Given the description of an element on the screen output the (x, y) to click on. 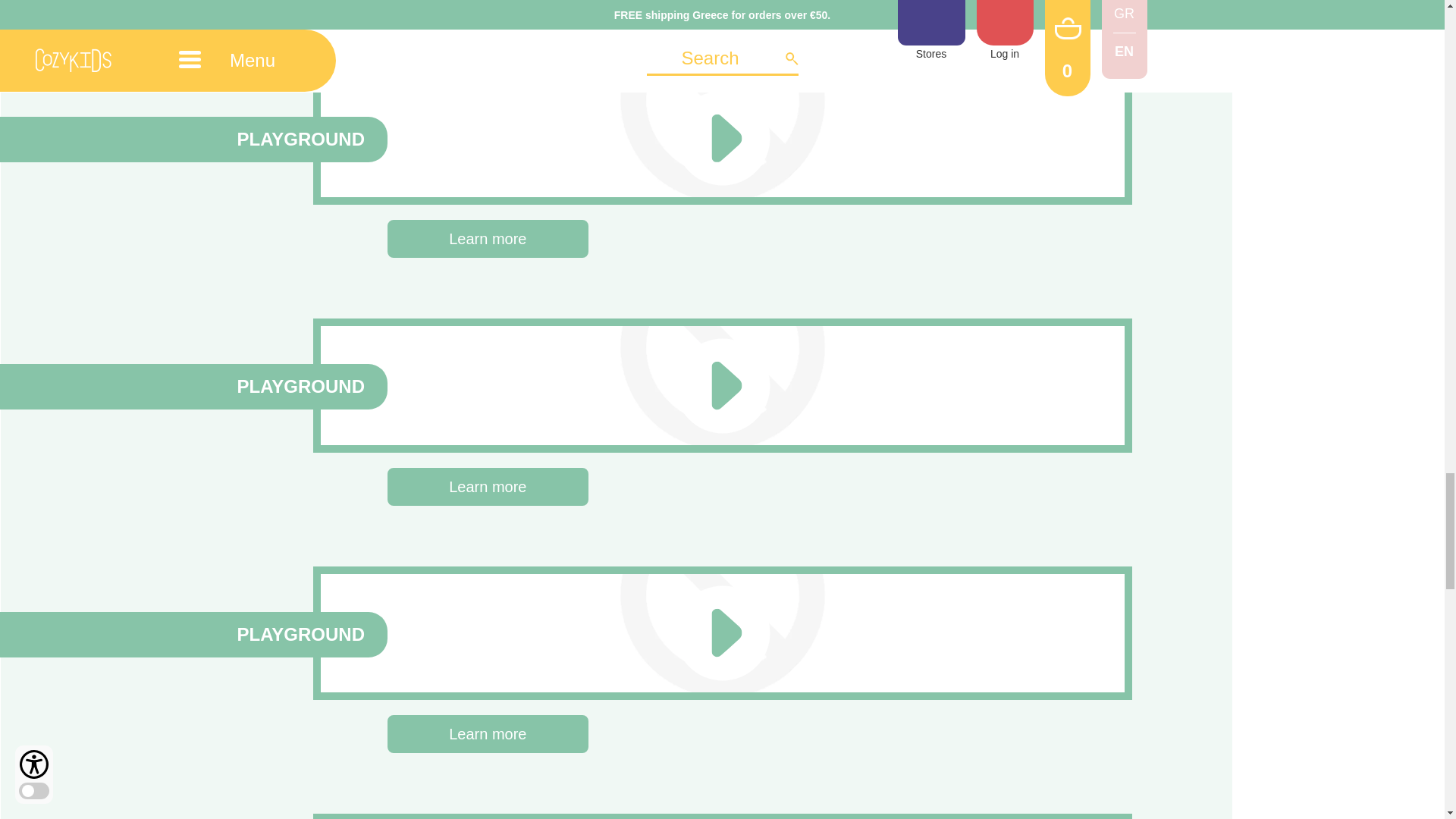
CozyKids Playground video (433, 630)
CozyKids Playground video (433, 382)
CozyKids Playground video (433, 135)
